Given the description of an element on the screen output the (x, y) to click on. 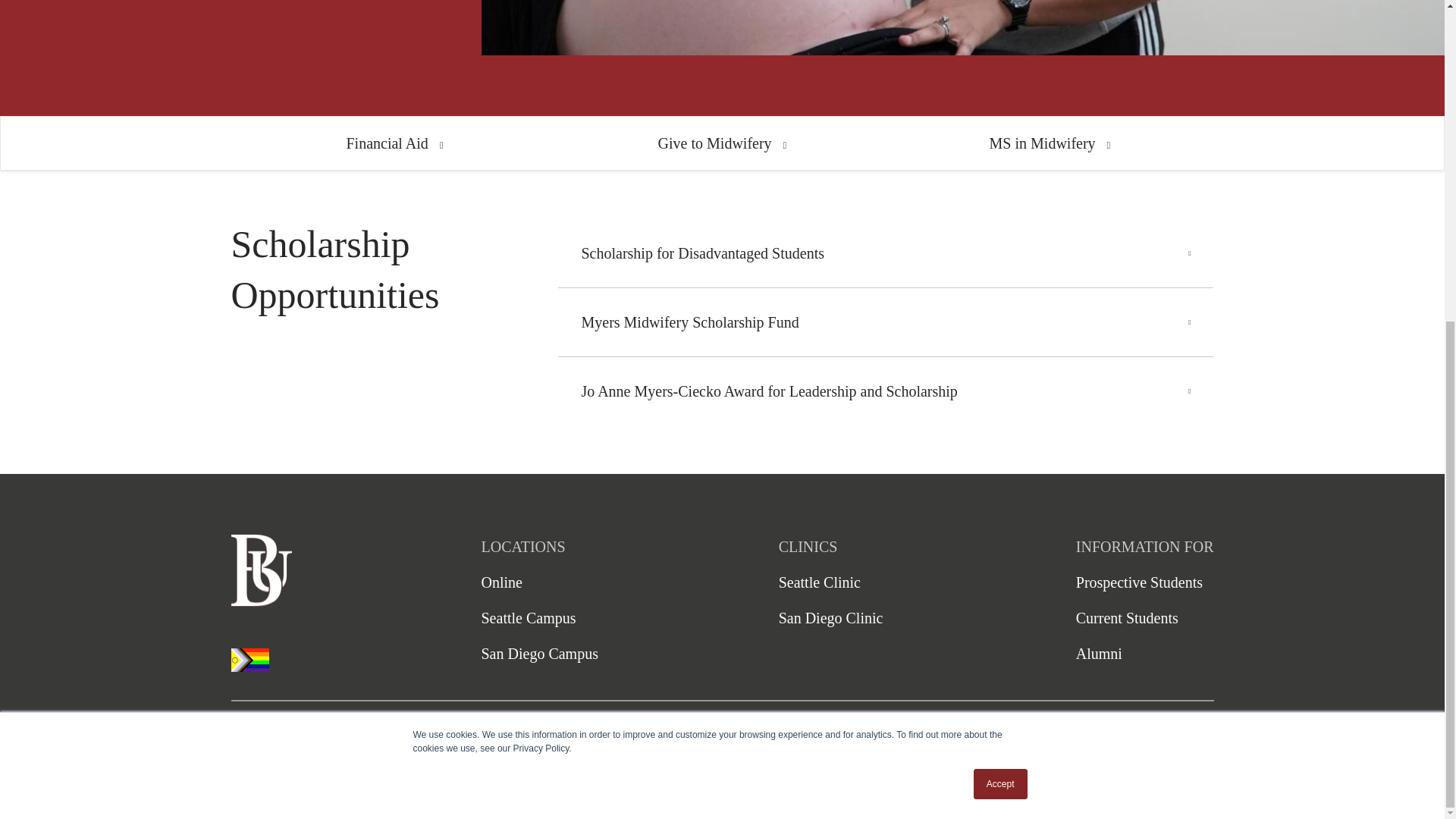
Follow us on Facebook (1159, 790)
Follow us on Youtube Channel (1073, 790)
Follow us on Instagram (1119, 790)
Accept (1000, 260)
Follow us on Linkedin (1194, 790)
